Given the description of an element on the screen output the (x, y) to click on. 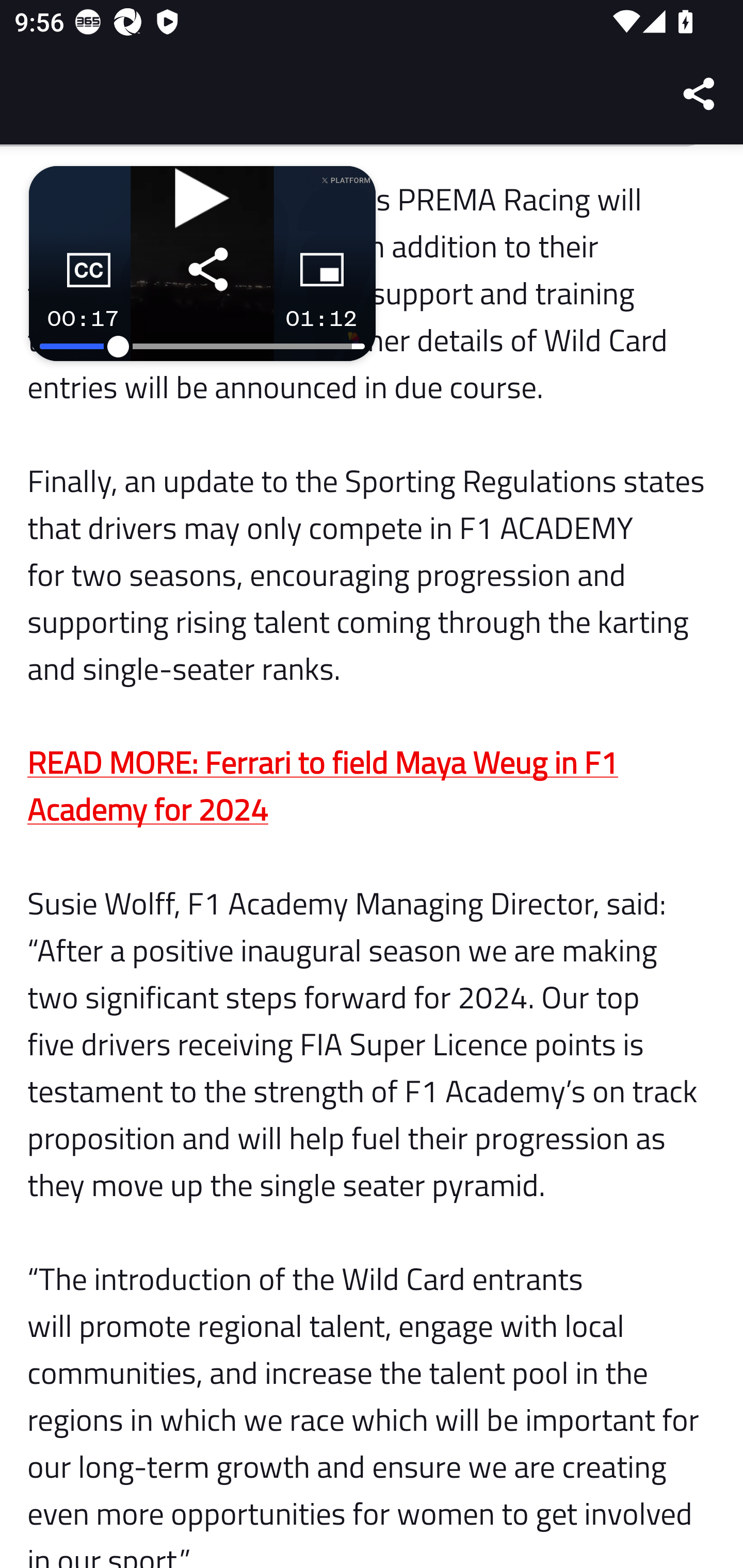
Share (699, 93)
